Given the description of an element on the screen output the (x, y) to click on. 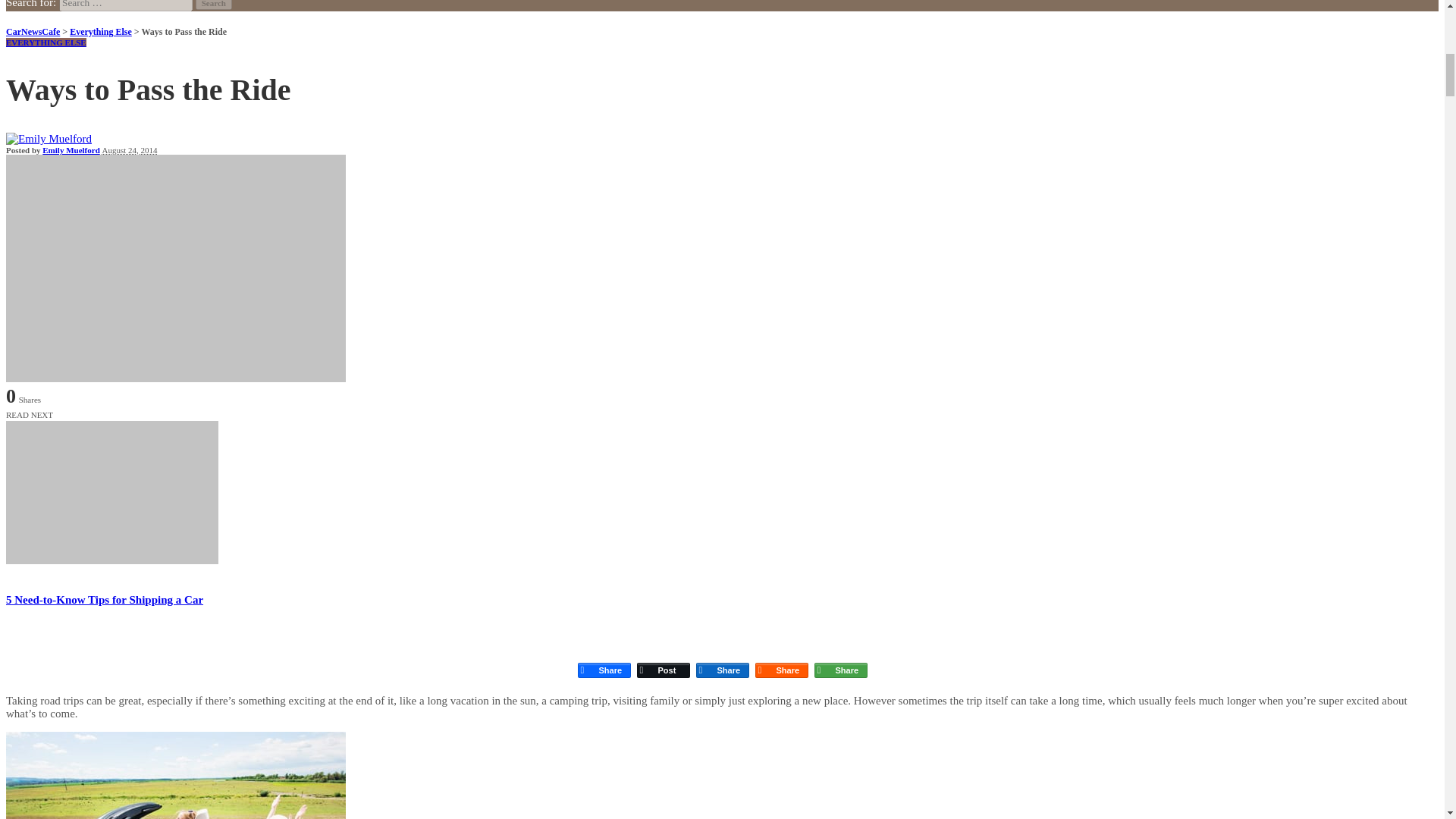
Search (213, 4)
Search (213, 4)
